Given the description of an element on the screen output the (x, y) to click on. 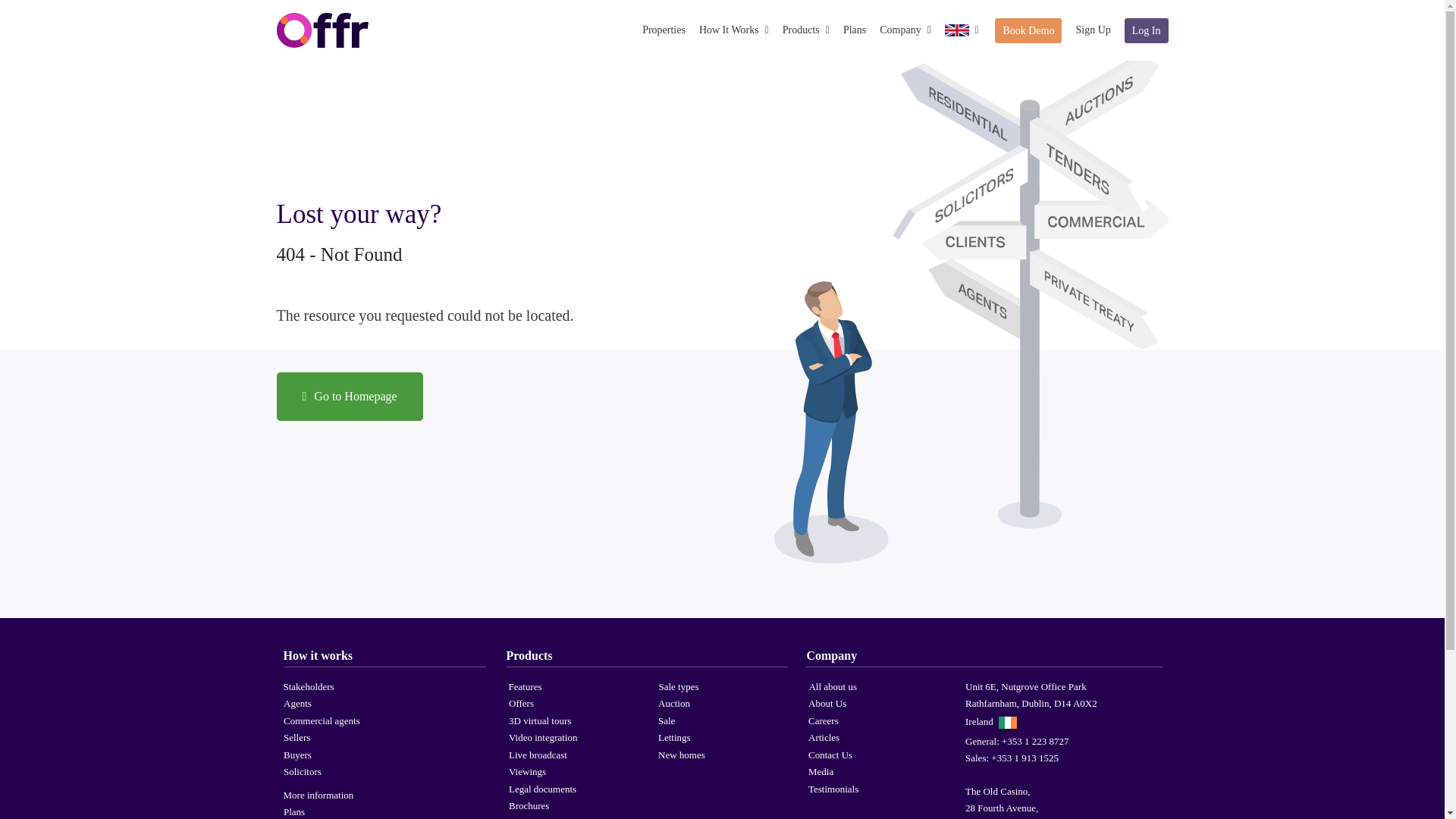
Company (905, 30)
Offr Logo (322, 30)
How It Works (733, 30)
Products (806, 30)
Properties (663, 30)
English (956, 29)
